Given the description of an element on the screen output the (x, y) to click on. 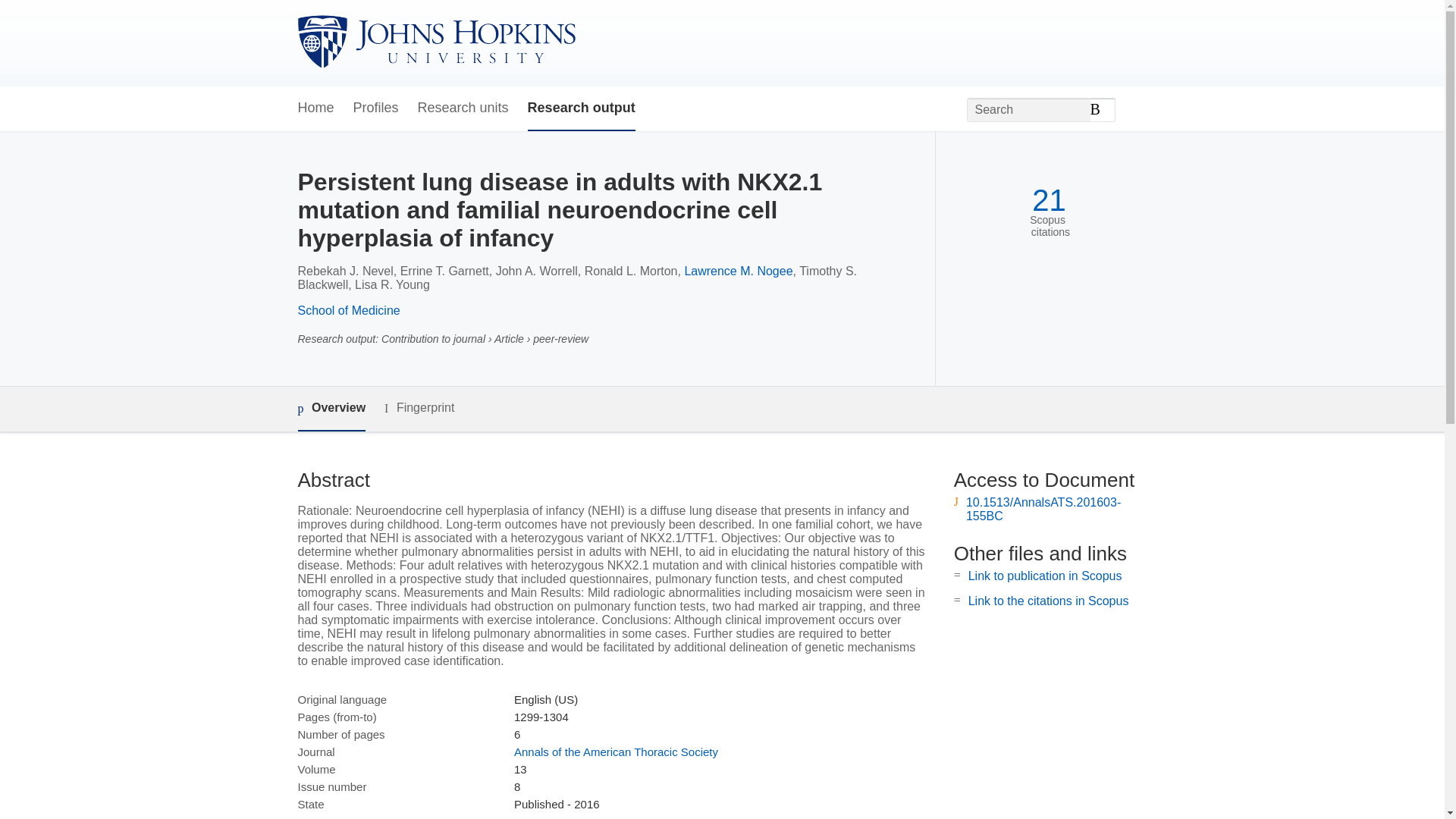
Annals of the American Thoracic Society (615, 751)
Link to the citations in Scopus (1048, 600)
Fingerprint (419, 407)
School of Medicine (347, 309)
Johns Hopkins University Home (436, 43)
Research output (580, 108)
21 (1048, 200)
Link to publication in Scopus (1045, 575)
Profiles (375, 108)
Overview (331, 408)
Research units (462, 108)
Lawrence M. Nogee (738, 270)
